Given the description of an element on the screen output the (x, y) to click on. 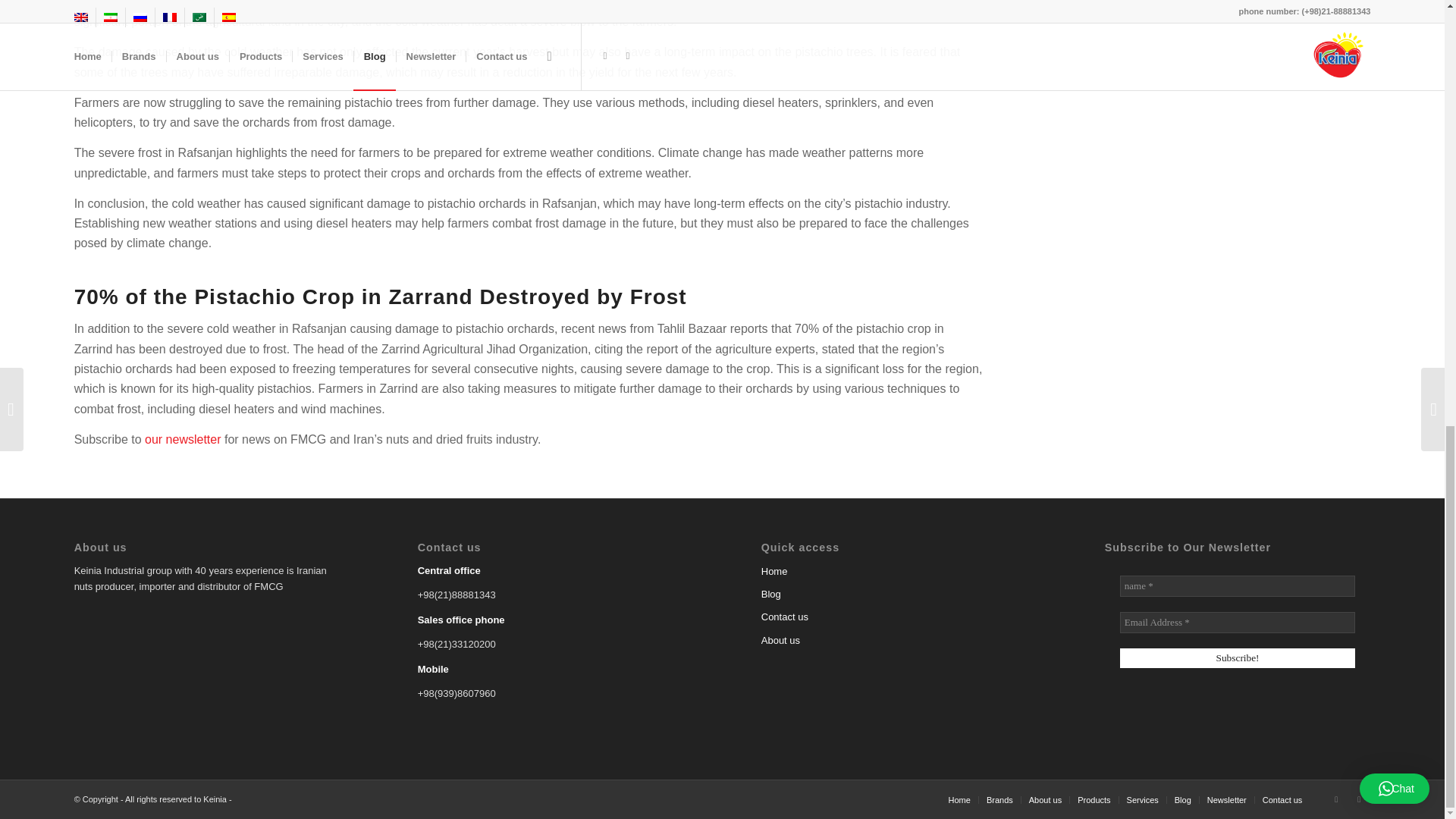
name (1237, 586)
Email Address (1237, 622)
Facebook (1359, 798)
Instagram (1336, 798)
our newsletter (182, 439)
Subscribe! (1237, 658)
